Given the description of an element on the screen output the (x, y) to click on. 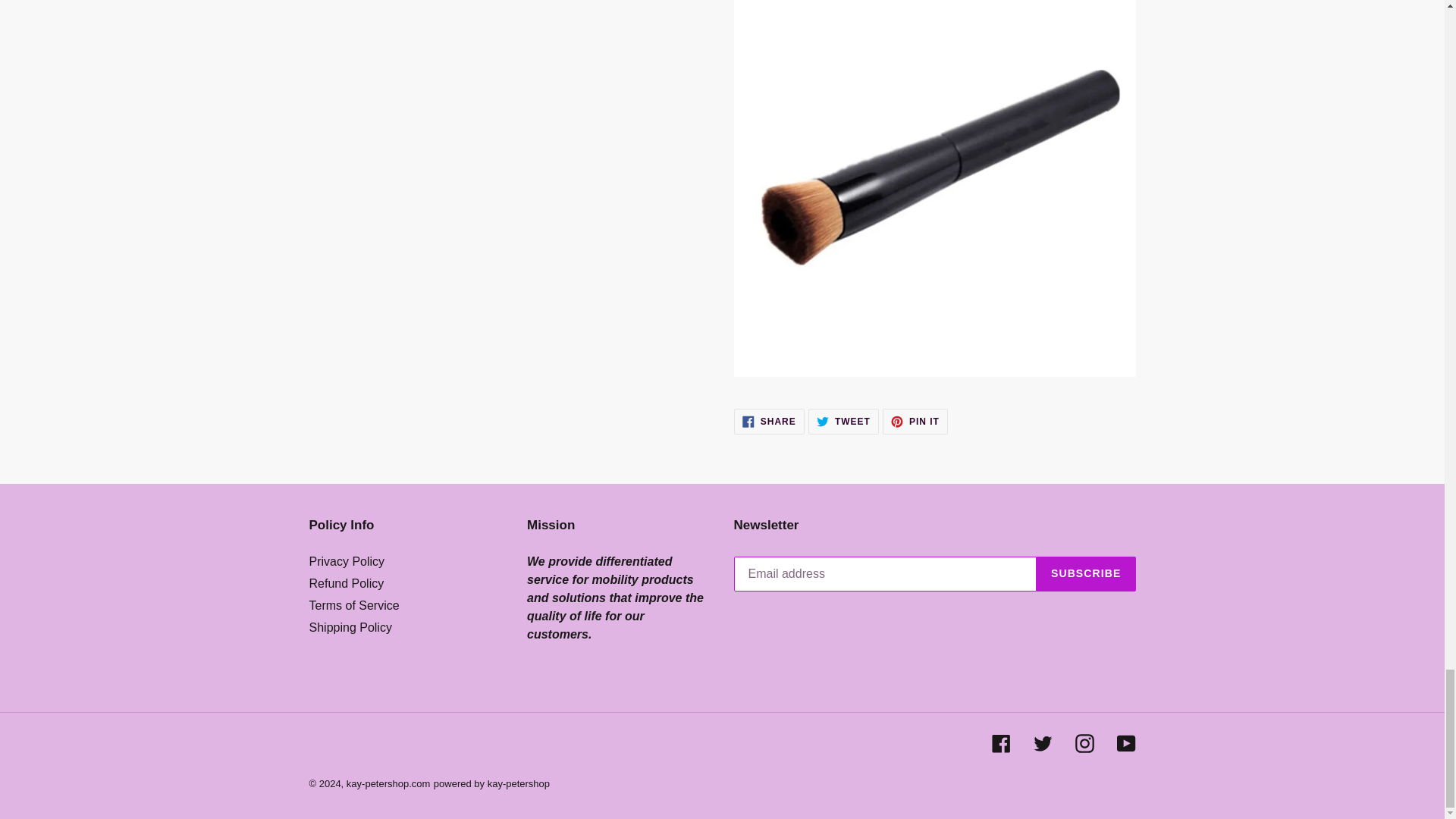
SUBSCRIBE (1085, 573)
Facebook (1000, 742)
Privacy Policy (346, 561)
Shipping Policy (349, 626)
Twitter (1041, 742)
Refund Policy (346, 583)
Terms of Service (914, 421)
